Given the description of an element on the screen output the (x, y) to click on. 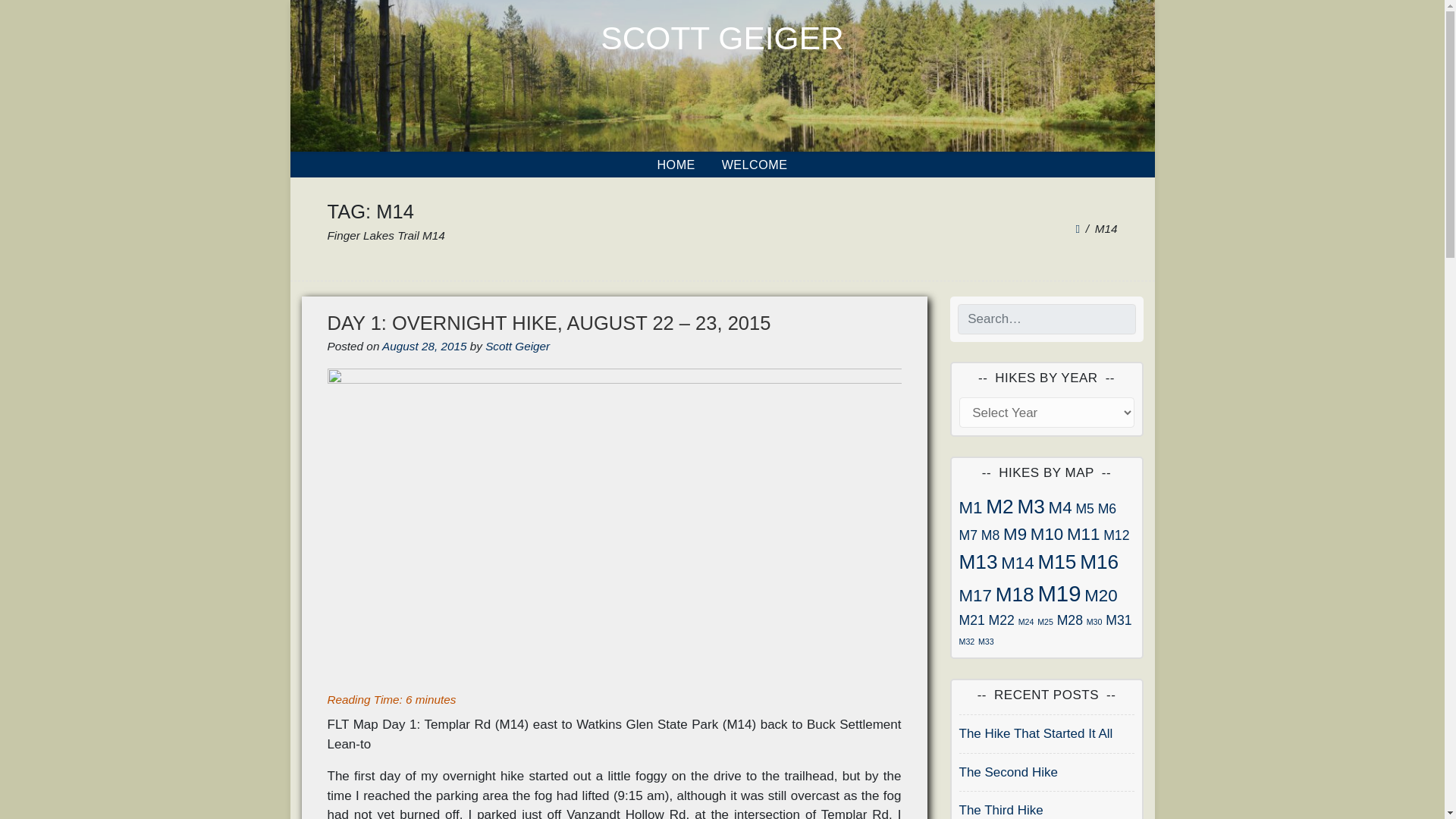
August 28, 2015 (423, 345)
WELCOME (754, 164)
Scott Geiger (517, 345)
SCOTT GEIGER (721, 38)
HOME (675, 164)
